Given the description of an element on the screen output the (x, y) to click on. 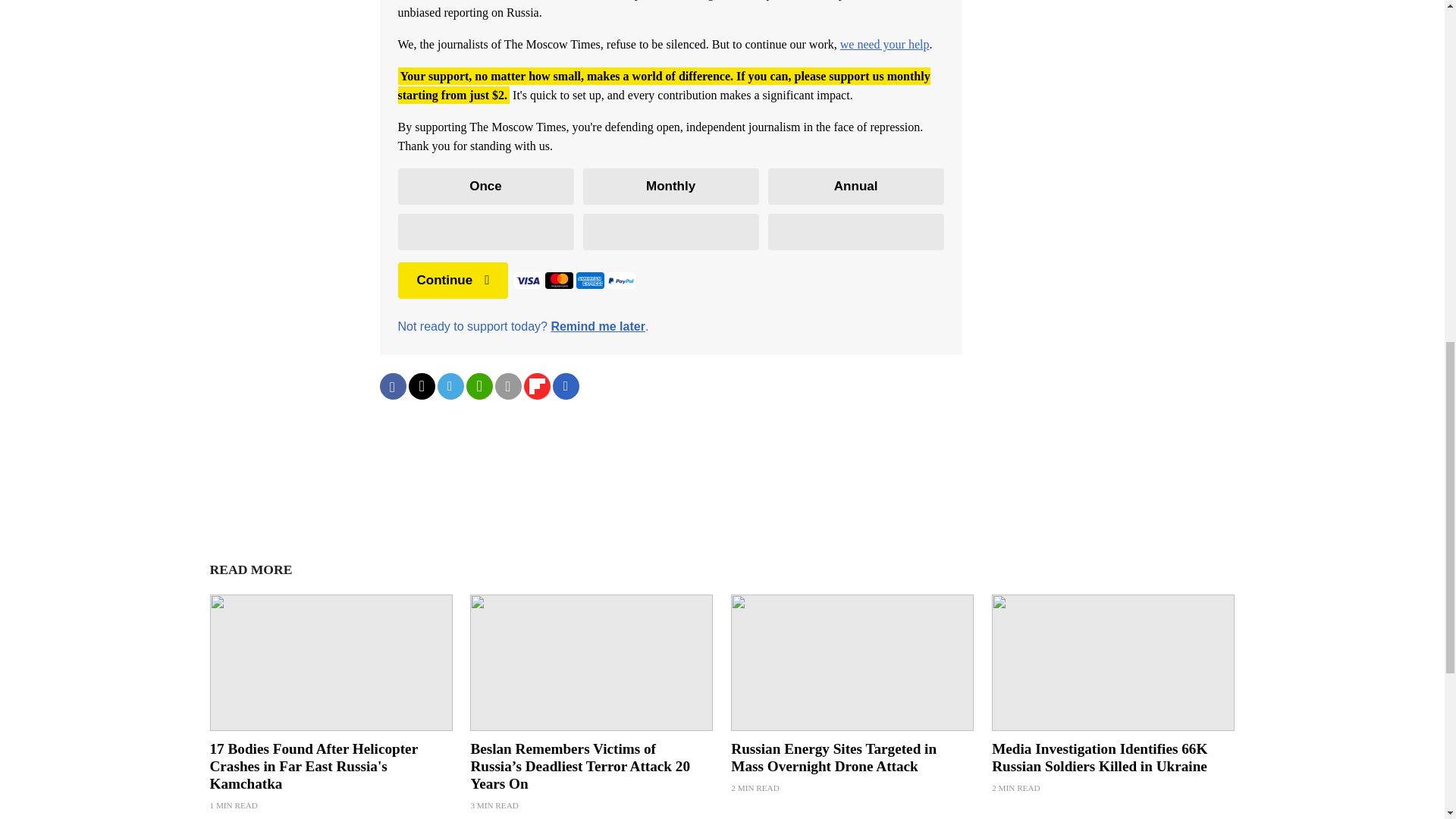
Share on Telegram (449, 386)
Share on Facebook (392, 386)
Share on Twitter (420, 386)
Share on Flipboard (536, 386)
we need your help (885, 43)
